Given the description of an element on the screen output the (x, y) to click on. 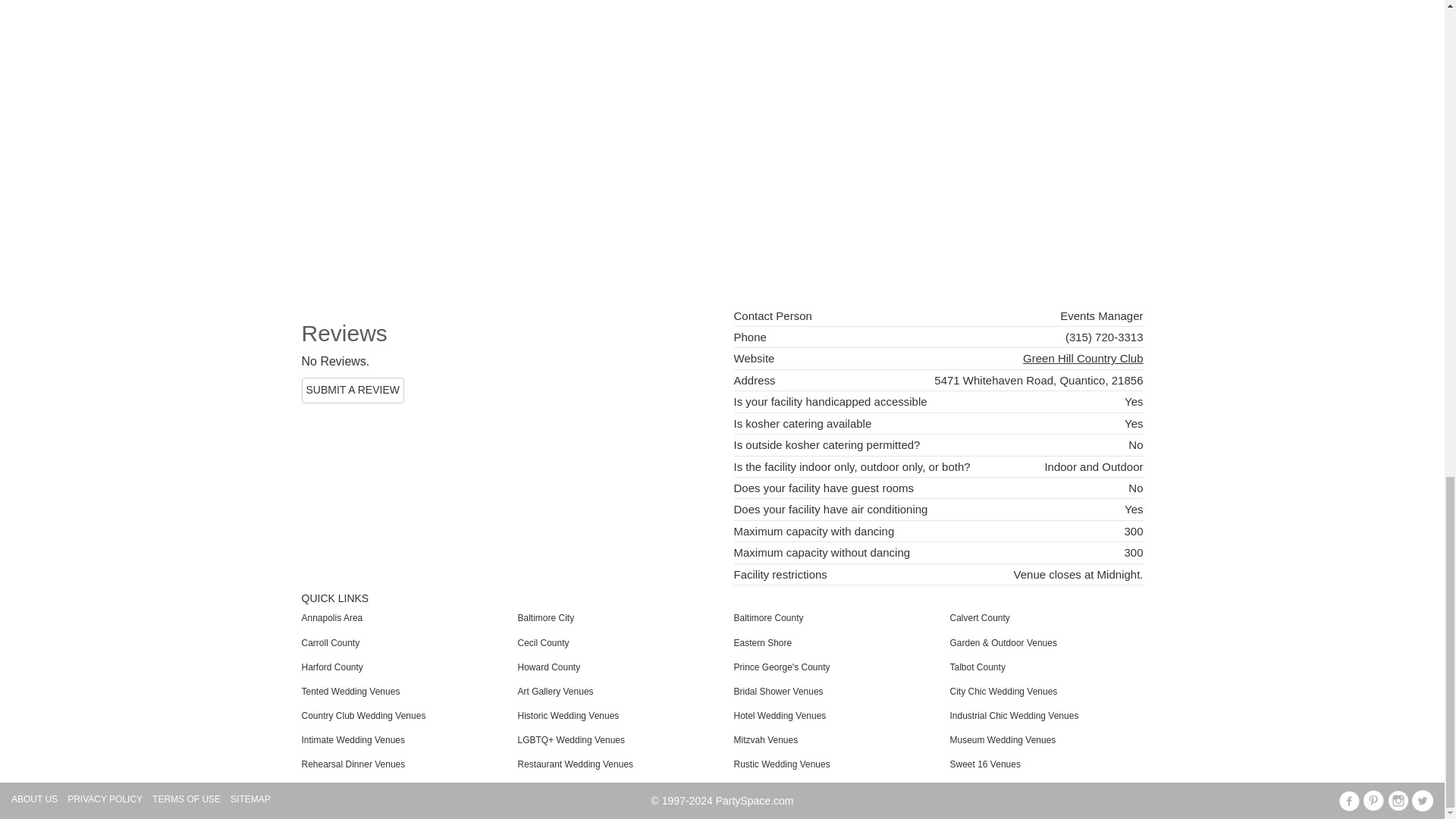
SUBMIT A REVIEW (352, 390)
Pinterest (1373, 800)
Facebook (1348, 800)
Instagram (1398, 800)
Twitter (1422, 800)
